Given the description of an element on the screen output the (x, y) to click on. 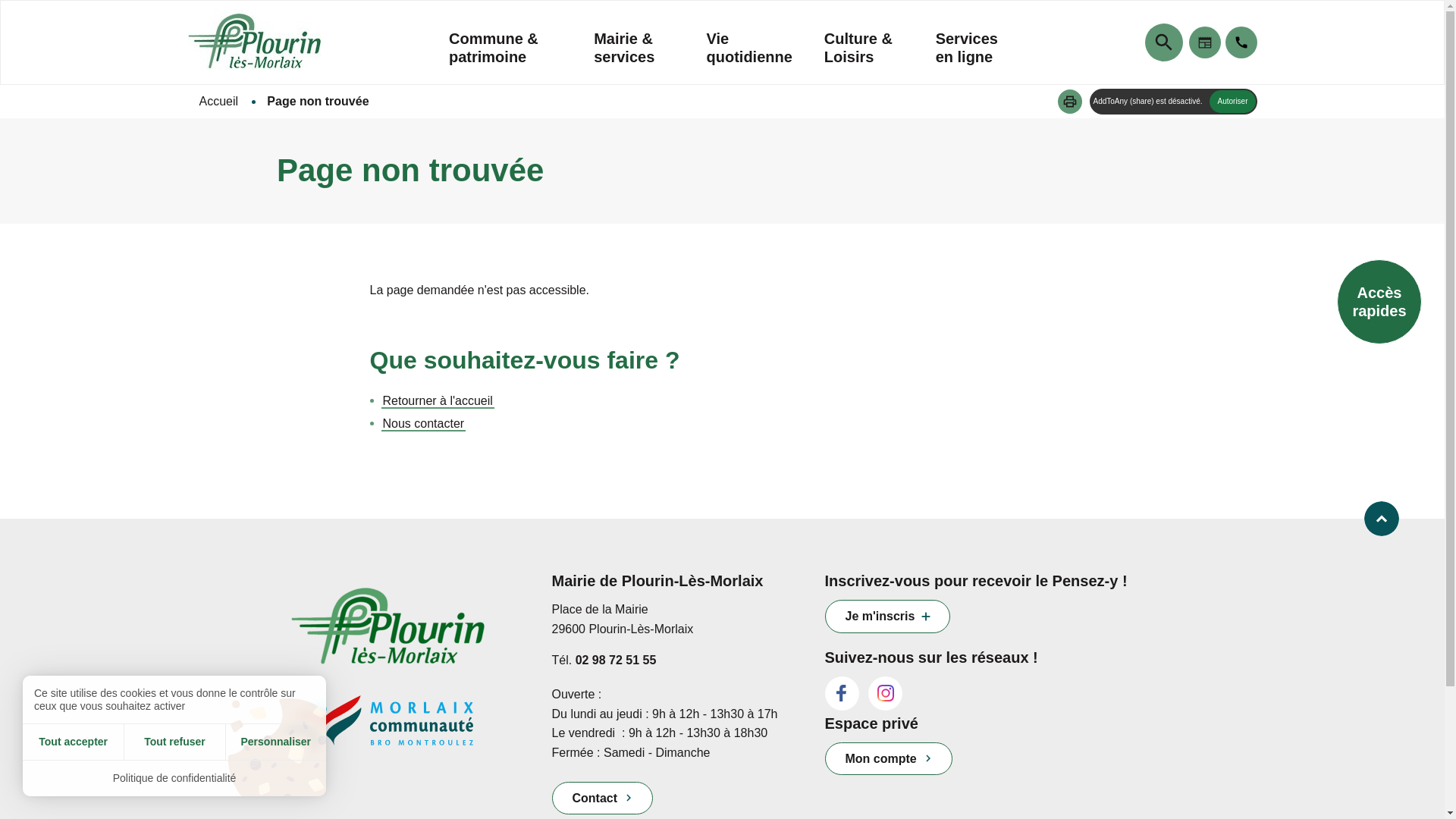
Je m'inscris Element type: text (887, 615)
Autoriser Element type: text (1232, 101)
Suivez-nous sur Facebook Element type: text (842, 693)
Commune & patrimoine Element type: text (505, 56)
Mairie & services Element type: text (633, 56)
02 98 72 51 55 Element type: text (615, 659)
Services en ligne Element type: text (975, 56)
Nous contacter Element type: text (422, 424)
Imprimer cette page Element type: hover (1069, 101)
Vie quotidienne Element type: text (749, 56)
Culture & Loisirs Element type: text (863, 56)
ALLER AU MENU Element type: text (0, 0)
Suivez-nous sur Instagram Element type: text (885, 693)
Accueil Element type: text (219, 100)
Tout accepter Element type: text (72, 741)
Tout refuser Element type: text (173, 741)
Mon compte Element type: text (888, 758)
Retourner en haut de la page Element type: text (1381, 518)
Personnaliser Element type: text (275, 741)
Contact Element type: text (602, 797)
